Given the description of an element on the screen output the (x, y) to click on. 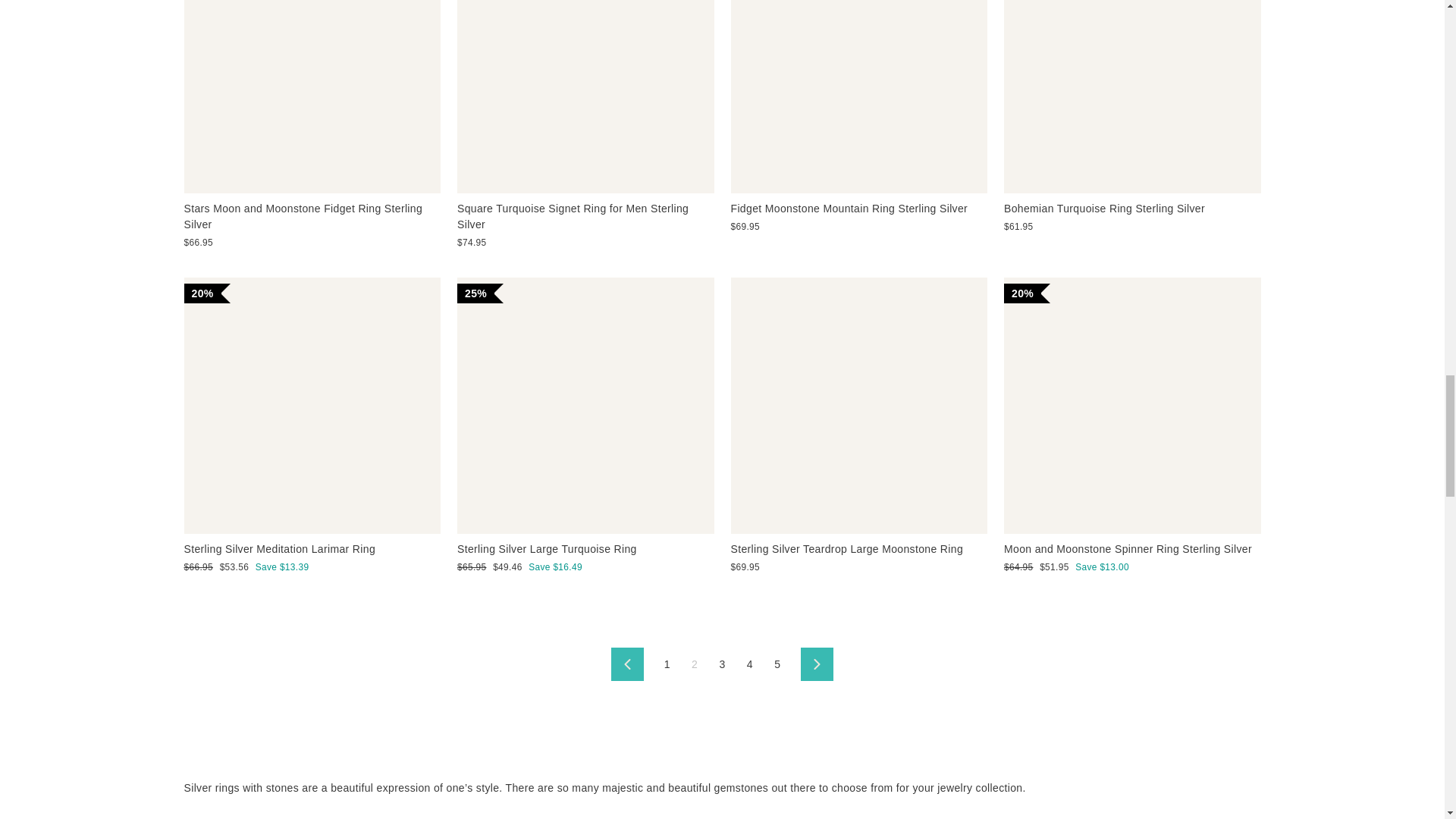
Next (816, 663)
Previous (627, 663)
